Given the description of an element on the screen output the (x, y) to click on. 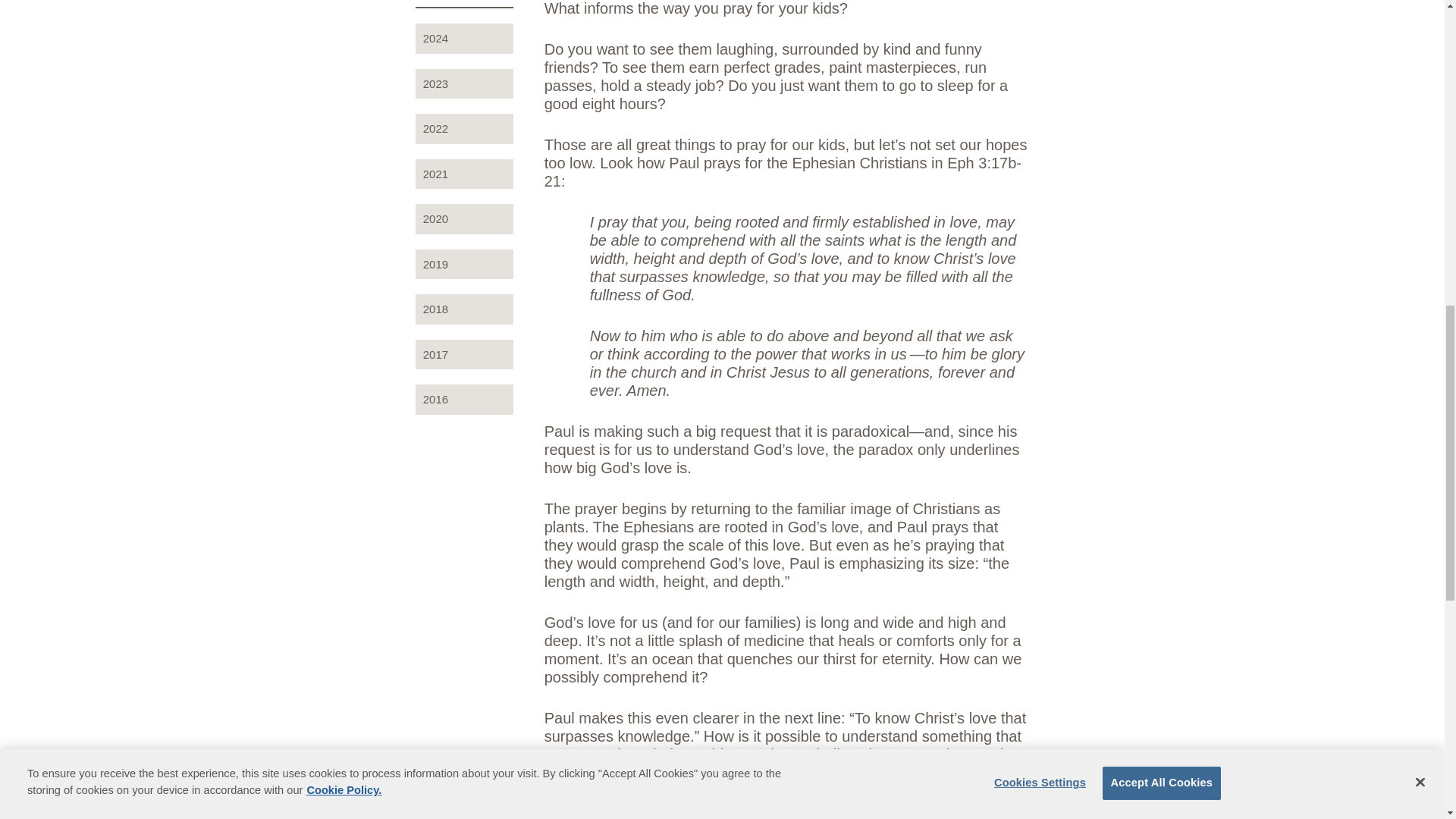
2023 (463, 83)
2024 (463, 38)
